Given the description of an element on the screen output the (x, y) to click on. 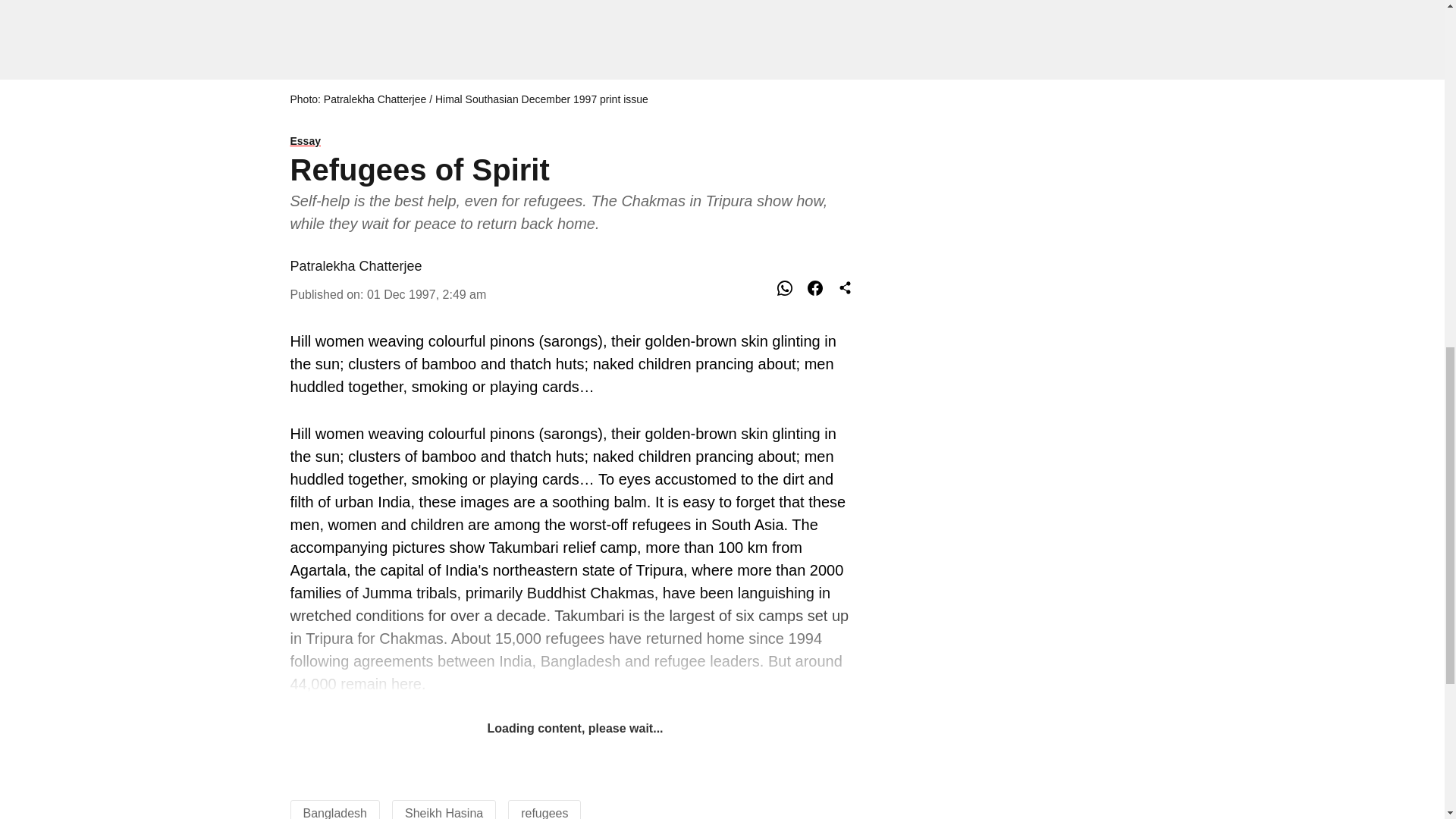
Patralekha Chatterjee (355, 265)
refugees (544, 812)
Essay (574, 141)
Bangladesh (335, 812)
Sheikh Hasina (443, 812)
1997-12-01 02:49 (426, 294)
